Given the description of an element on the screen output the (x, y) to click on. 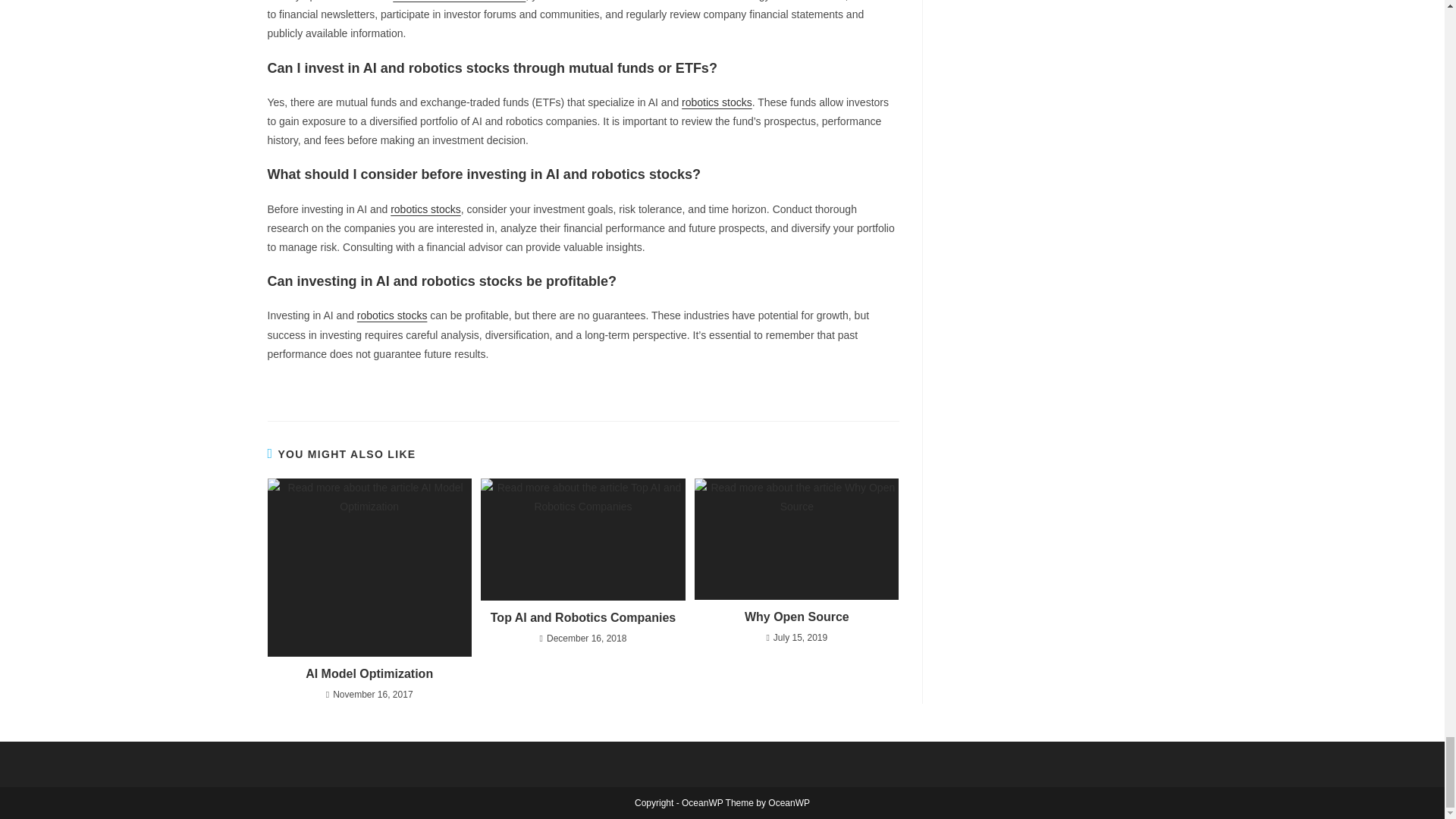
robotics stock market trends (459, 0)
